Given the description of an element on the screen output the (x, y) to click on. 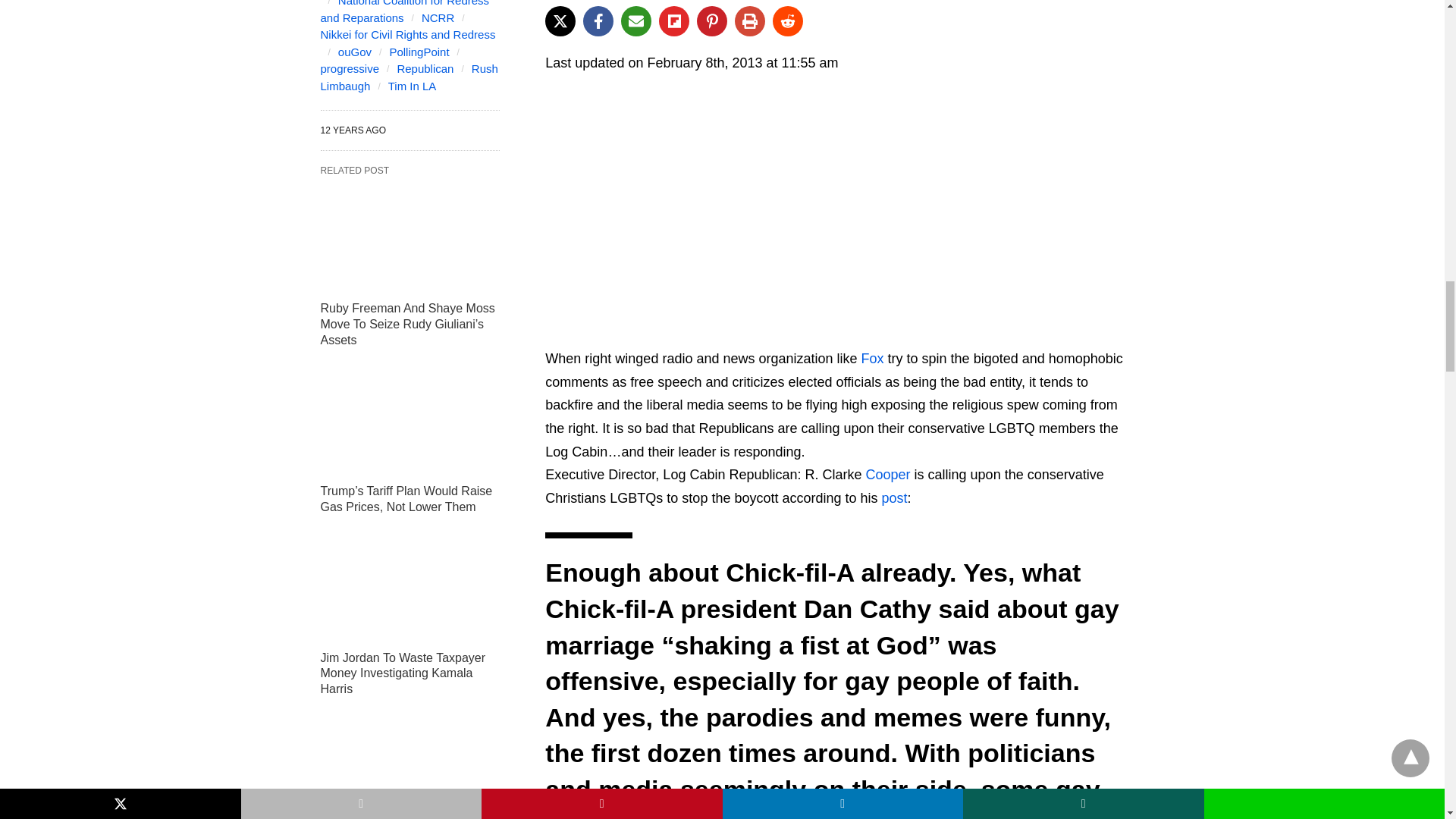
Fox (872, 358)
post (894, 498)
Cooper (888, 474)
